Given the description of an element on the screen output the (x, y) to click on. 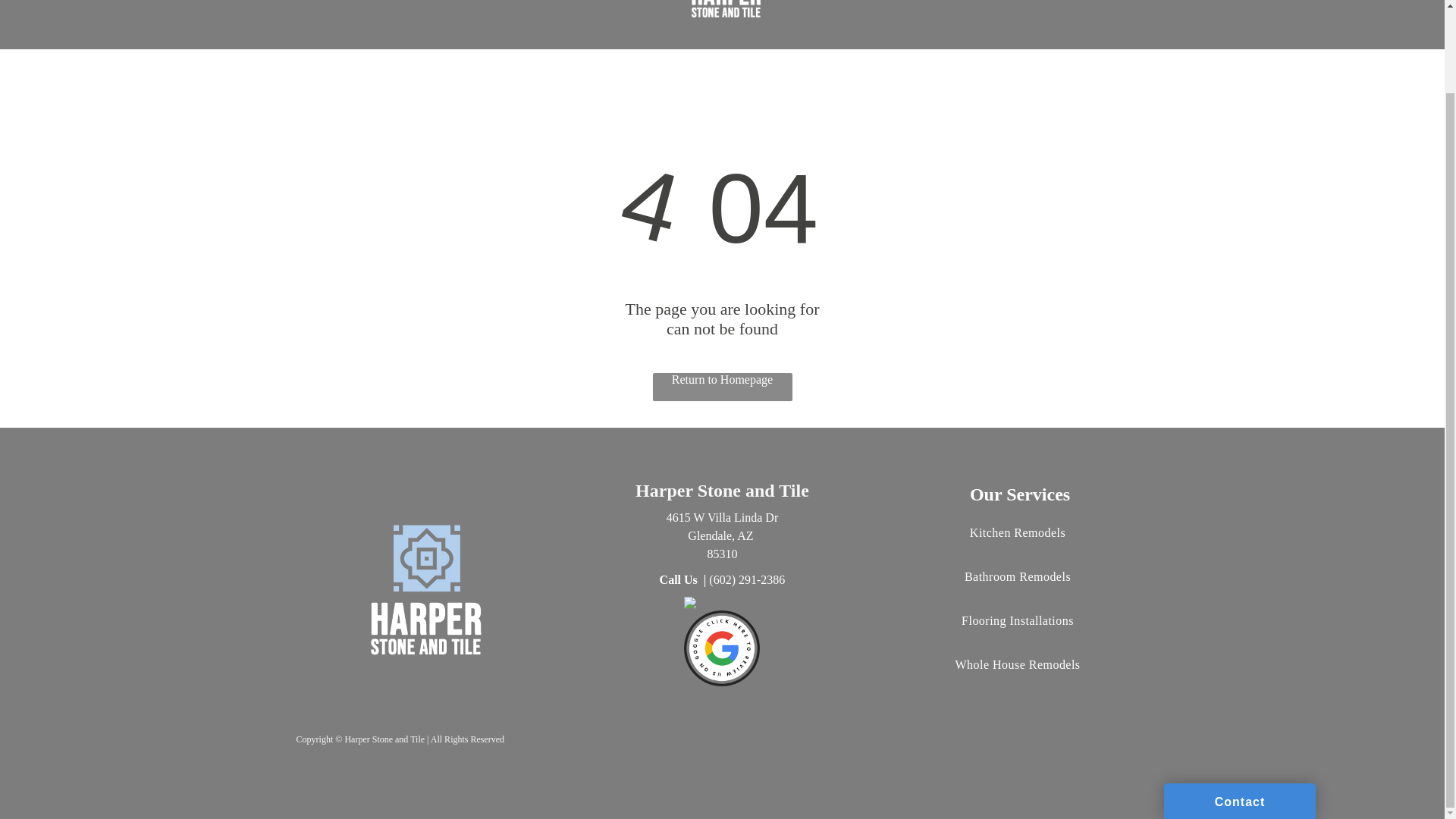
Kitchen Remodels (1017, 548)
Flooring Installations (1017, 636)
Whole House Remodels (1017, 679)
Bathroom Remodels (1017, 592)
Return to Homepage (722, 387)
